Given the description of an element on the screen output the (x, y) to click on. 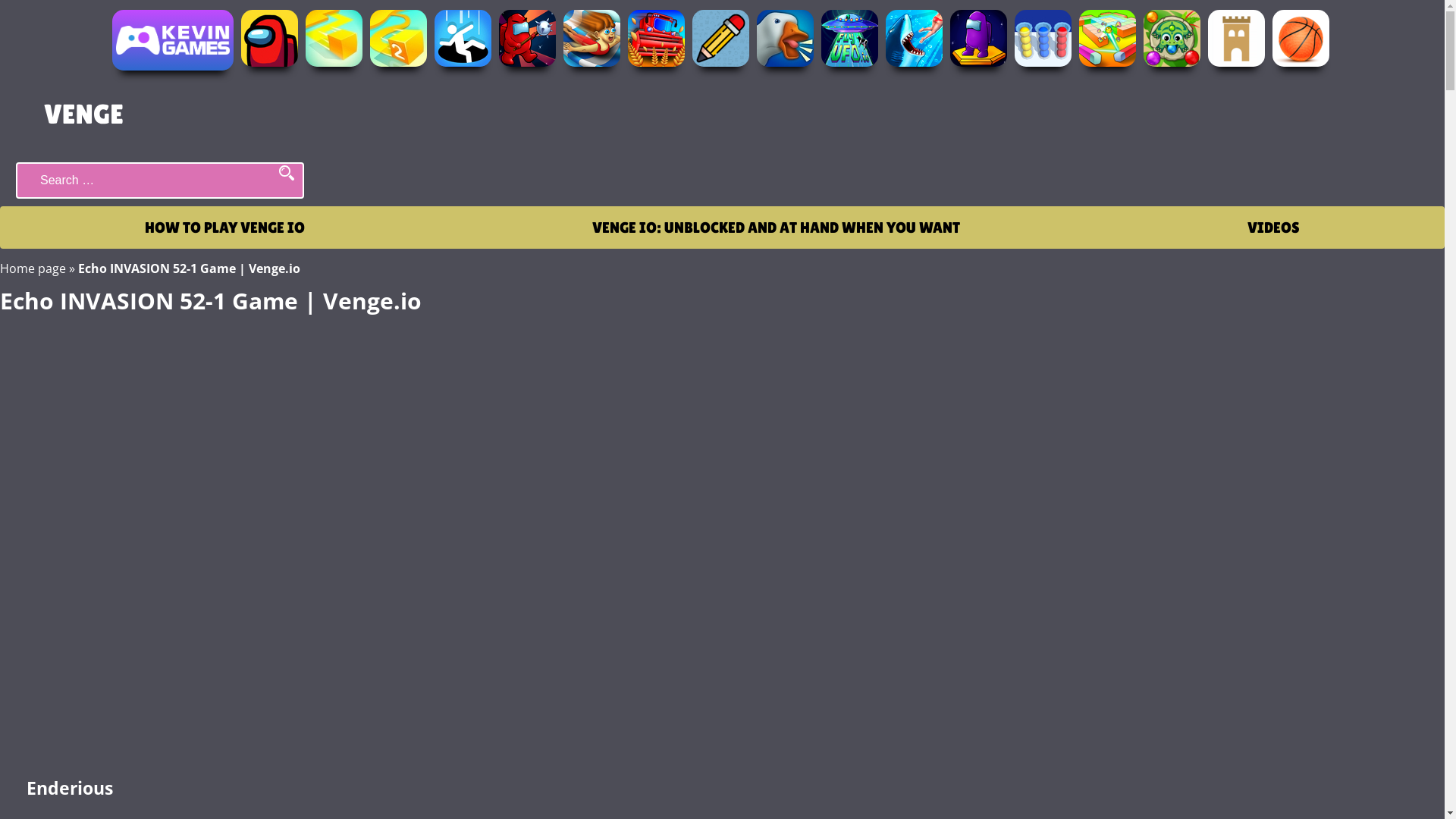
Echo INVASION 52-1 Game | Venge.io Element type: hover (722, 536)
VIDEOS Element type: text (1273, 227)
VENGE IO: UNBLOCKED AND AT HAND WHEN YOU WANT Element type: text (775, 227)
Game link1330 Element type: hover (722, 43)
HOW TO PLAY VENGE IO Element type: text (224, 227)
Home page Element type: text (32, 268)
